Given the description of an element on the screen output the (x, y) to click on. 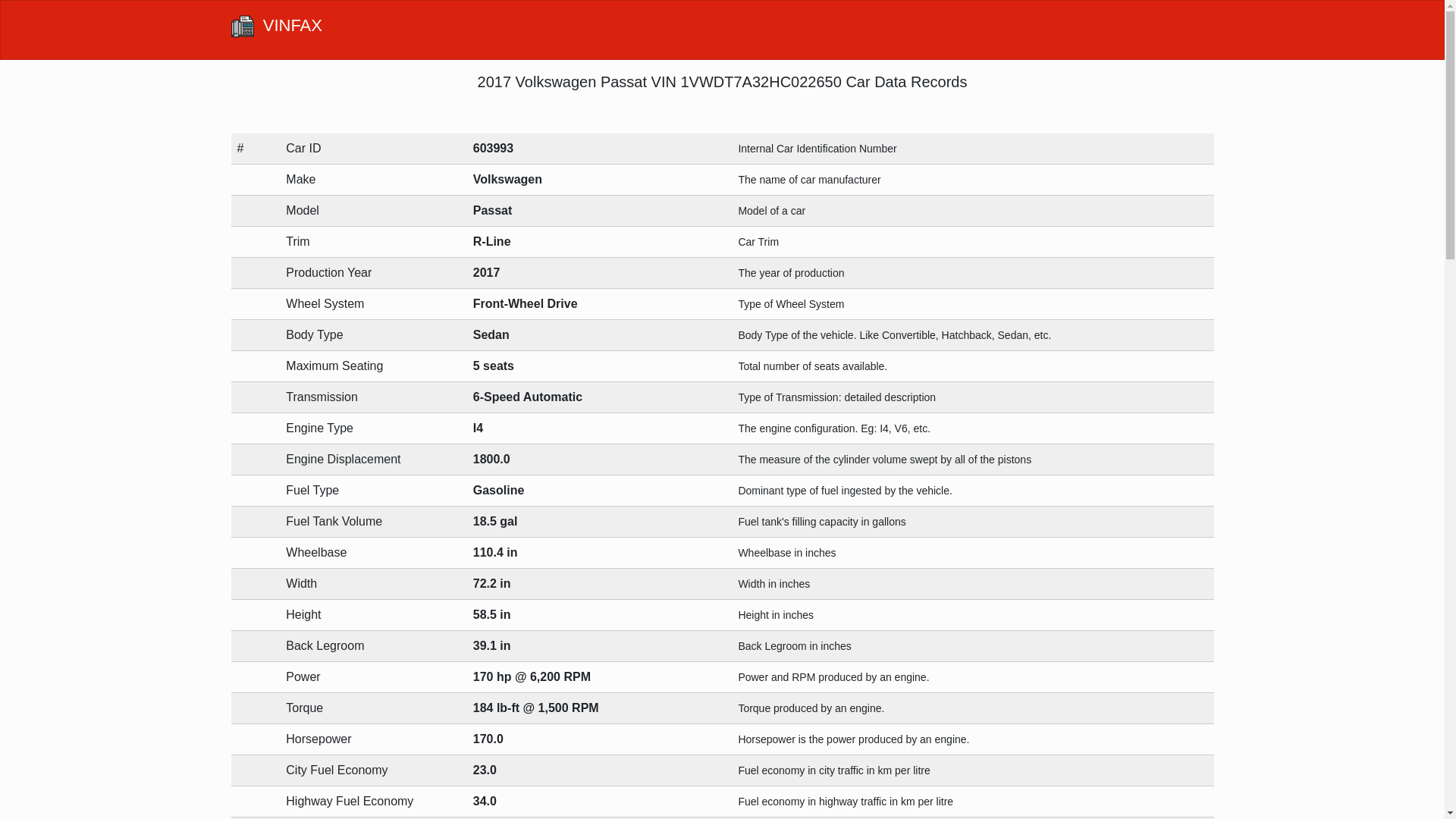
VinFax.pro (241, 26)
VinFax.pro (275, 29)
  VINFAX (275, 29)
